Given the description of an element on the screen output the (x, y) to click on. 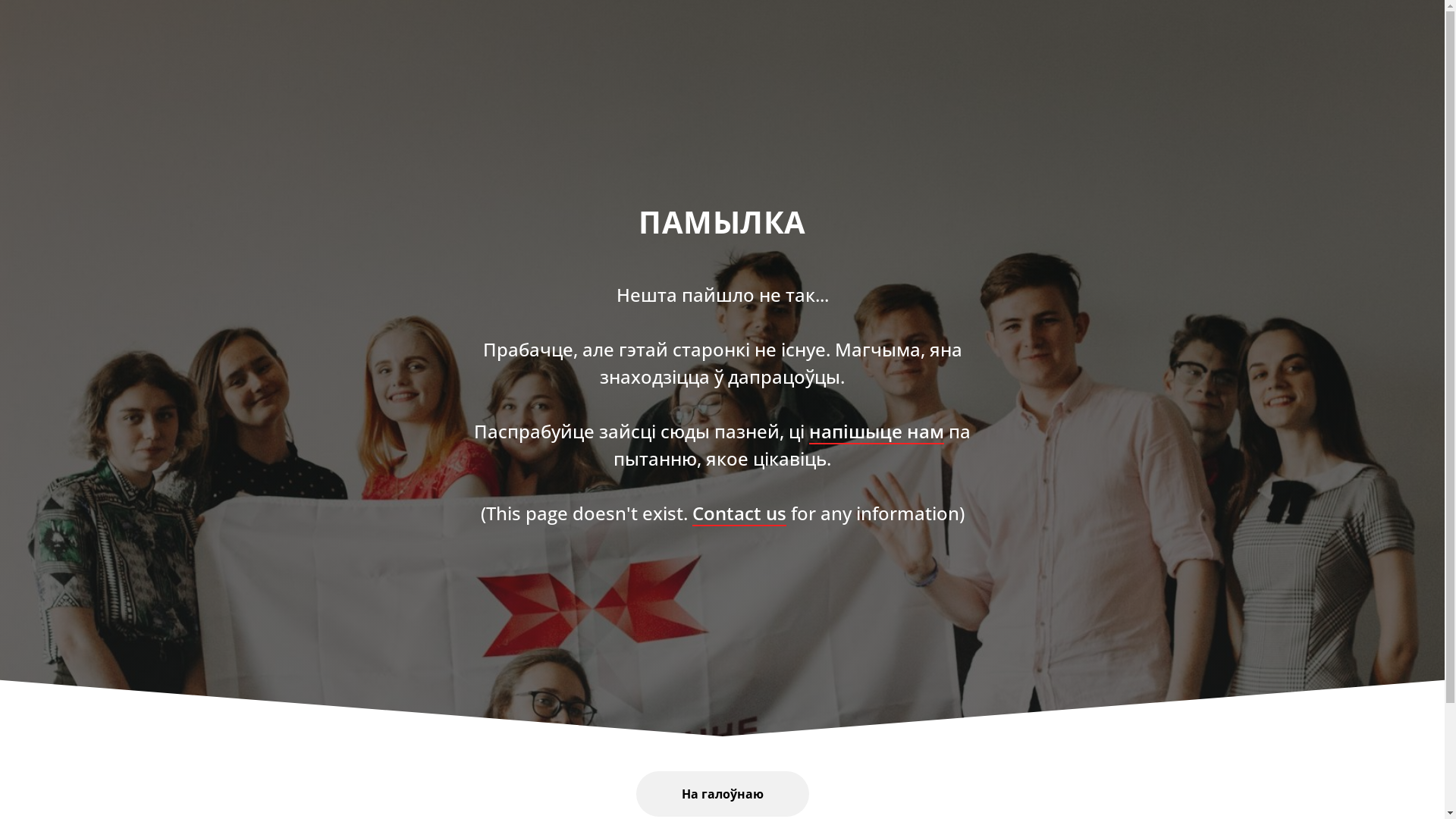
Contact us Element type: text (738, 513)
